Given the description of an element on the screen output the (x, y) to click on. 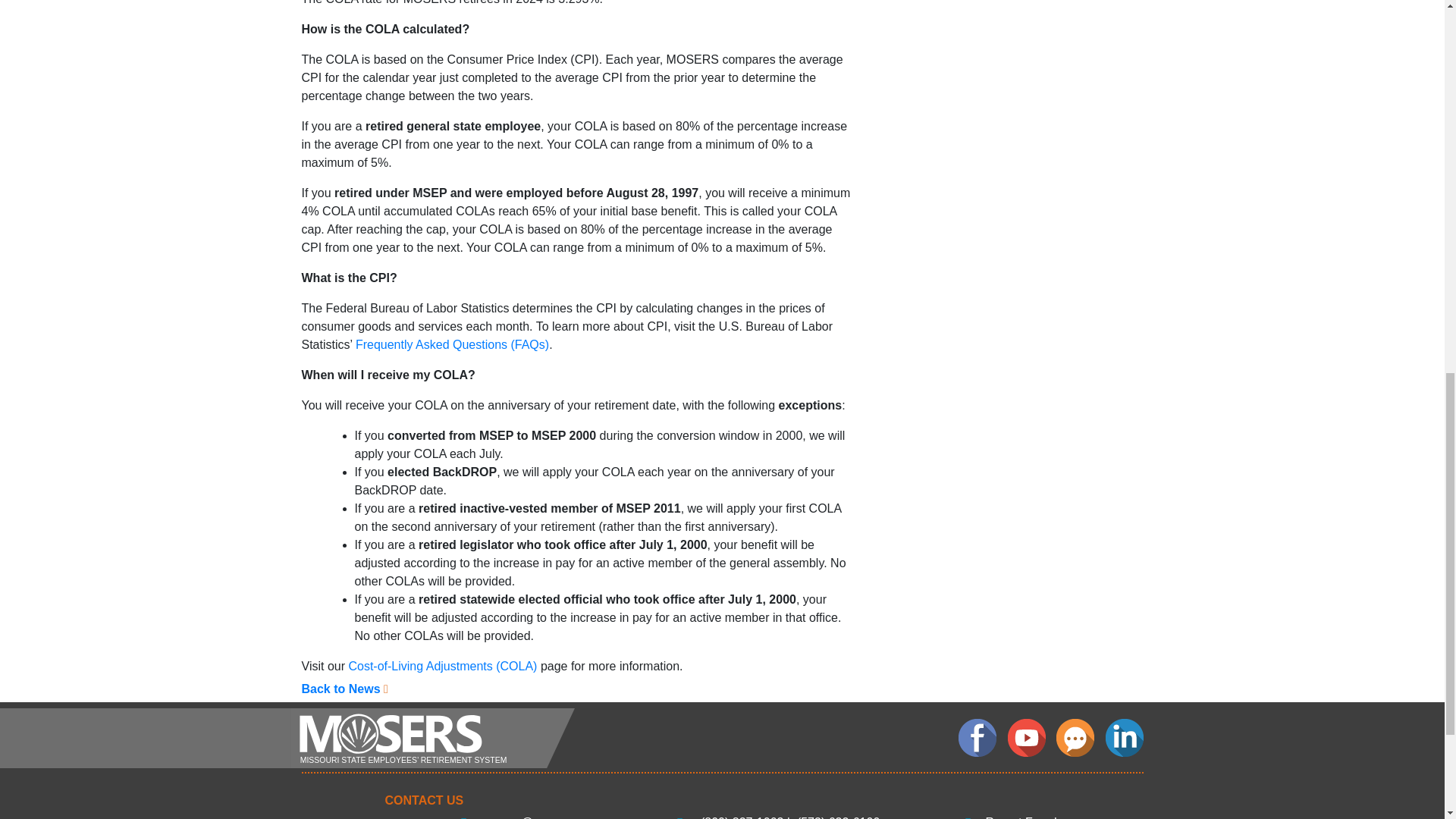
footer-logo (431, 738)
MOSERS Facebook (976, 737)
footer-logo (431, 737)
MOSERS You-Tube (1026, 737)
MOSERS Linkedin (1123, 737)
Rumor Central Blog (1075, 737)
